Given the description of an element on the screen output the (x, y) to click on. 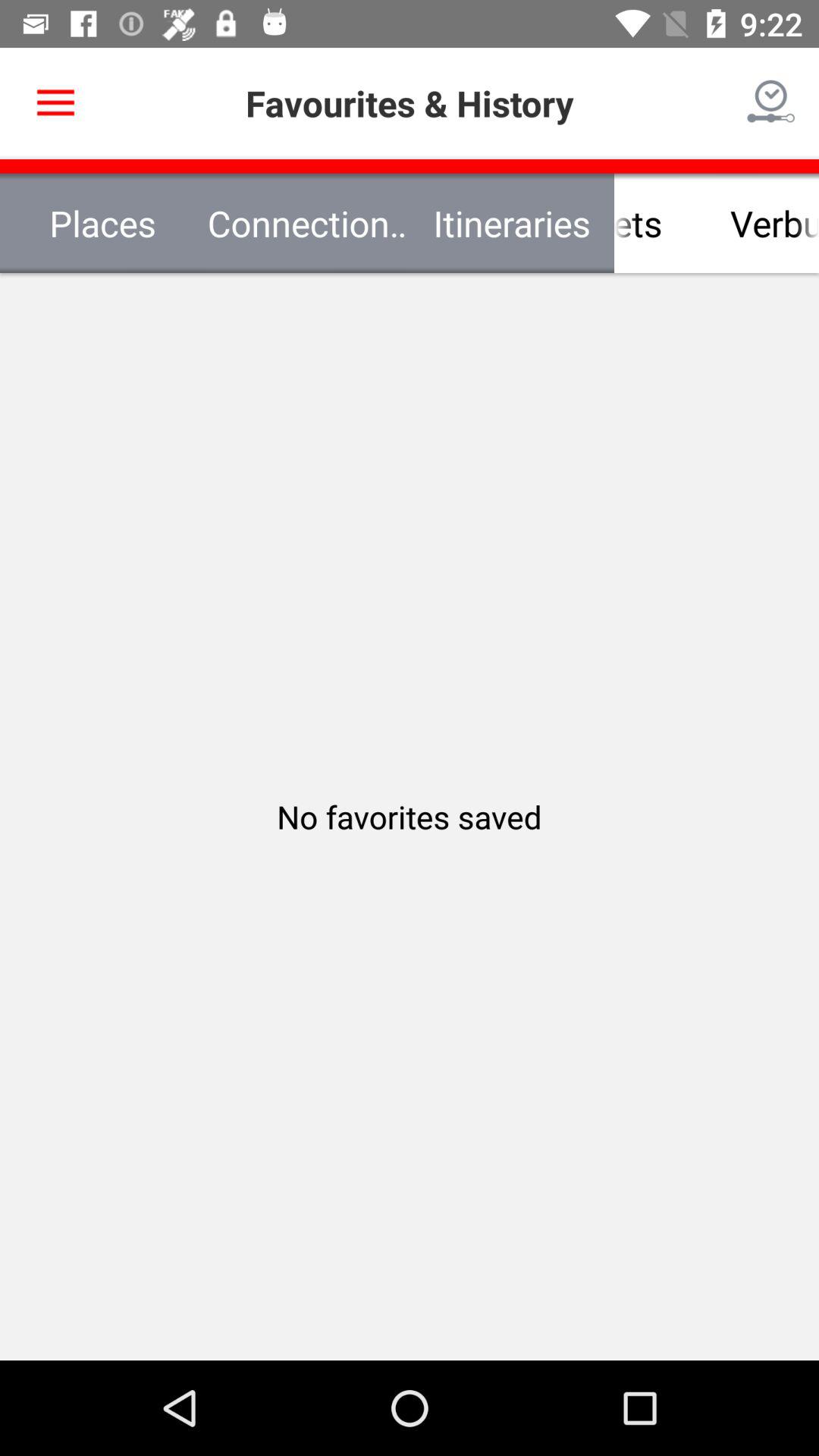
press the icon next to connection requests icon (55, 103)
